Given the description of an element on the screen output the (x, y) to click on. 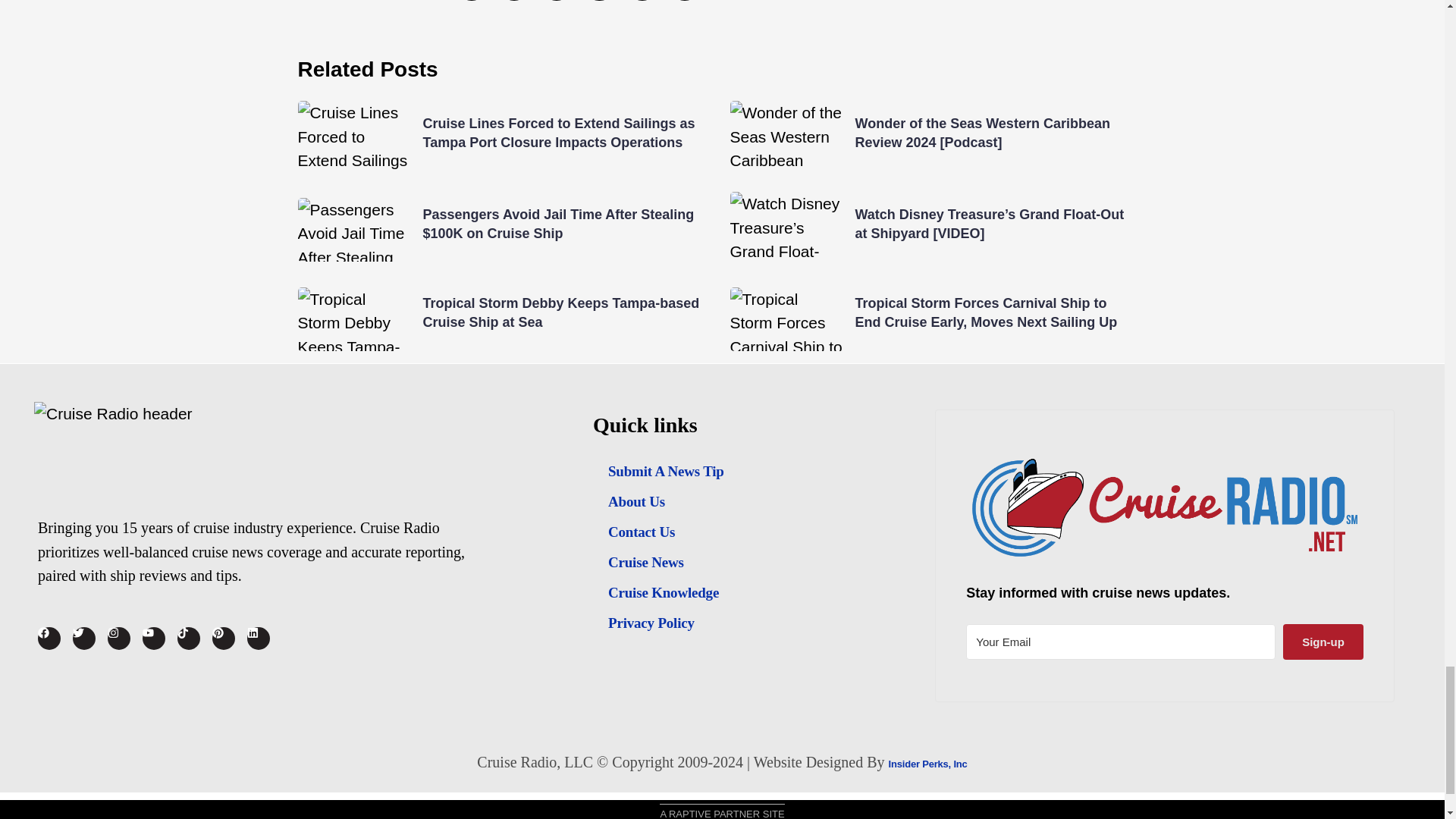
Tropical Storm Debby Keeps Tampa-based Cruise Ship at Sea (561, 312)
